Given the description of an element on the screen output the (x, y) to click on. 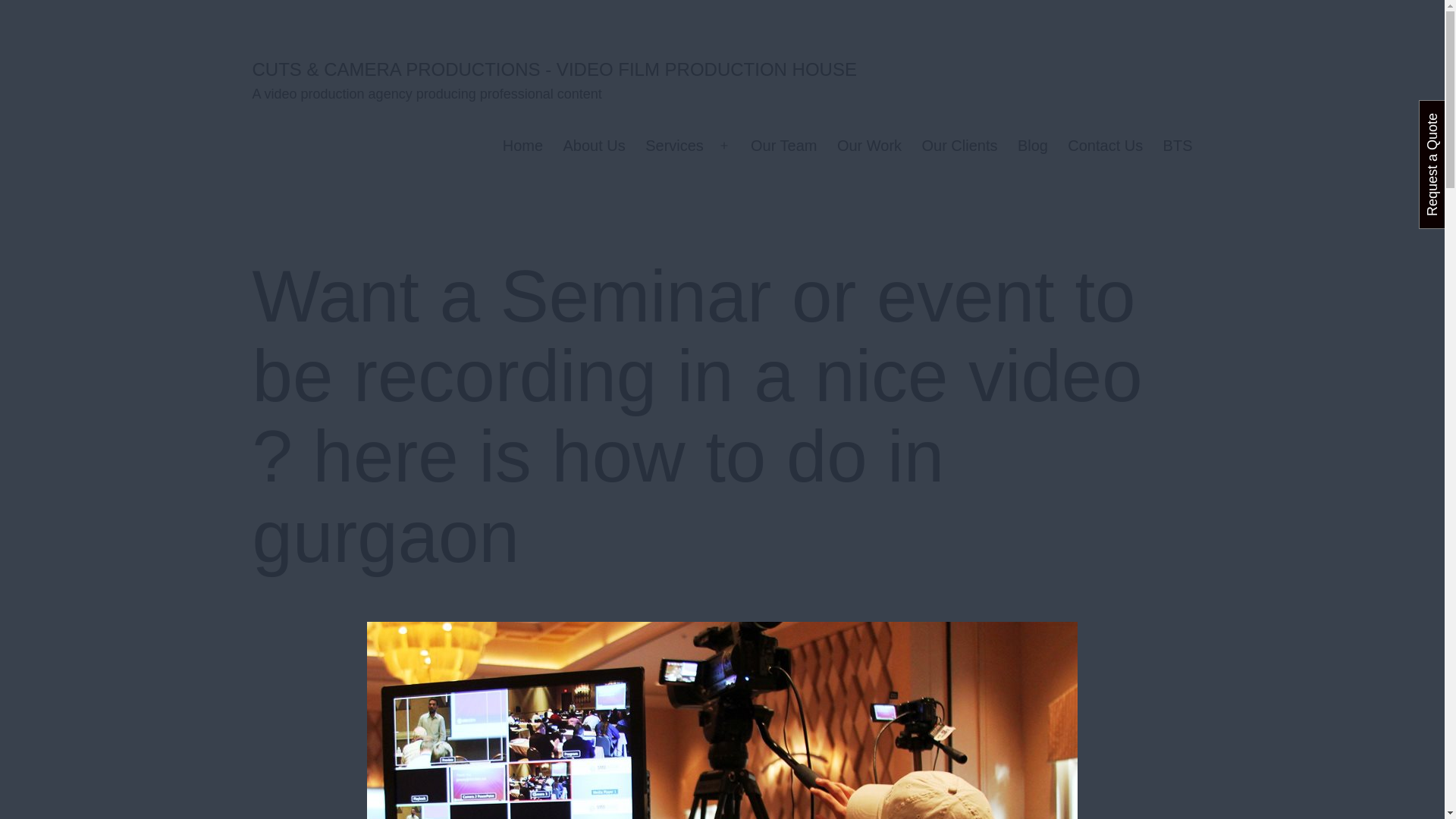
Contact Us (1105, 145)
Our Work (869, 145)
About Us (593, 145)
Our Clients (959, 145)
Our Team (784, 145)
Open menu (724, 145)
Home (523, 145)
Blog (1032, 145)
BTS (1177, 145)
Services (673, 145)
